Given the description of an element on the screen output the (x, y) to click on. 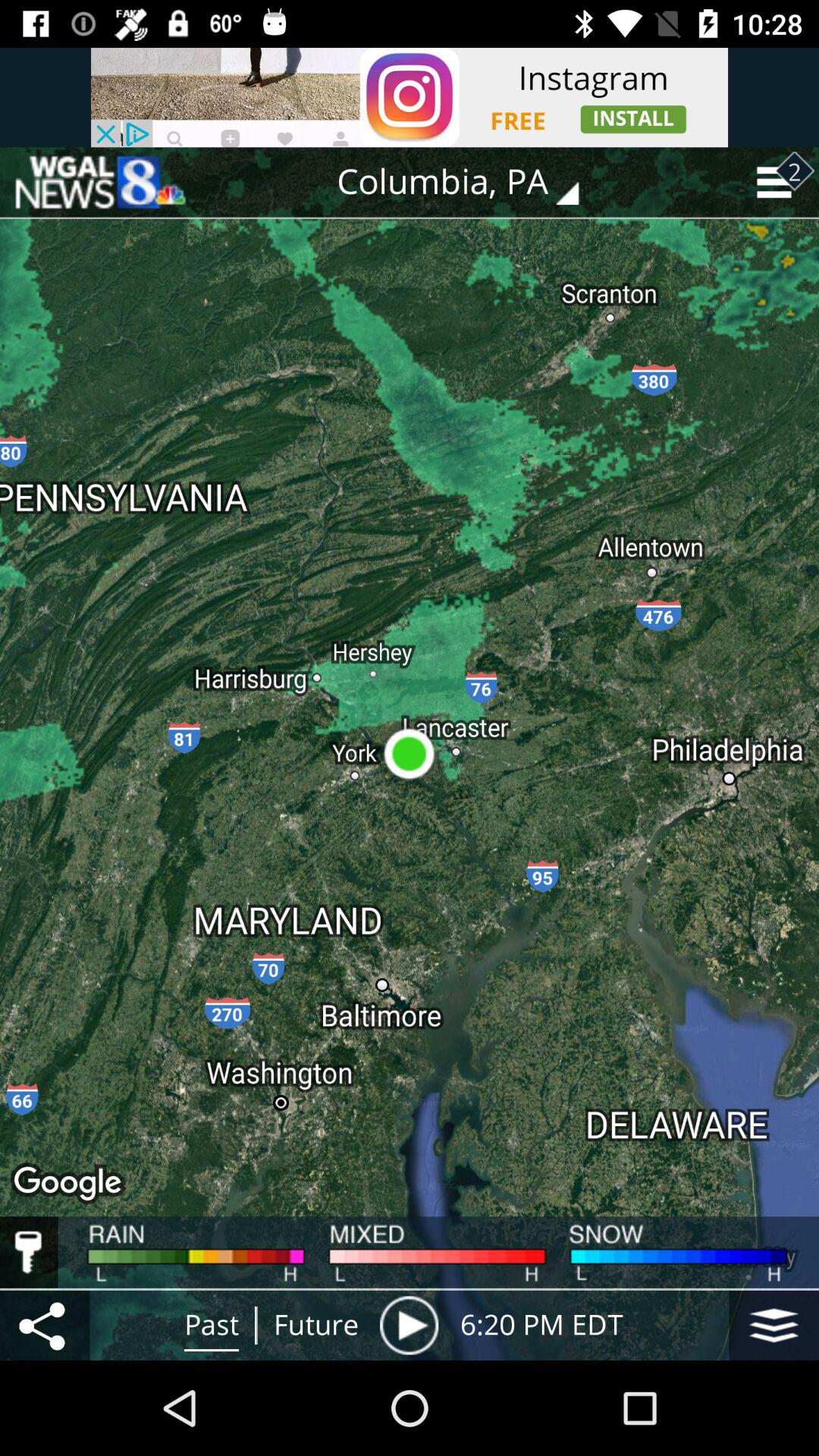
click on advertisement (409, 97)
